Given the description of an element on the screen output the (x, y) to click on. 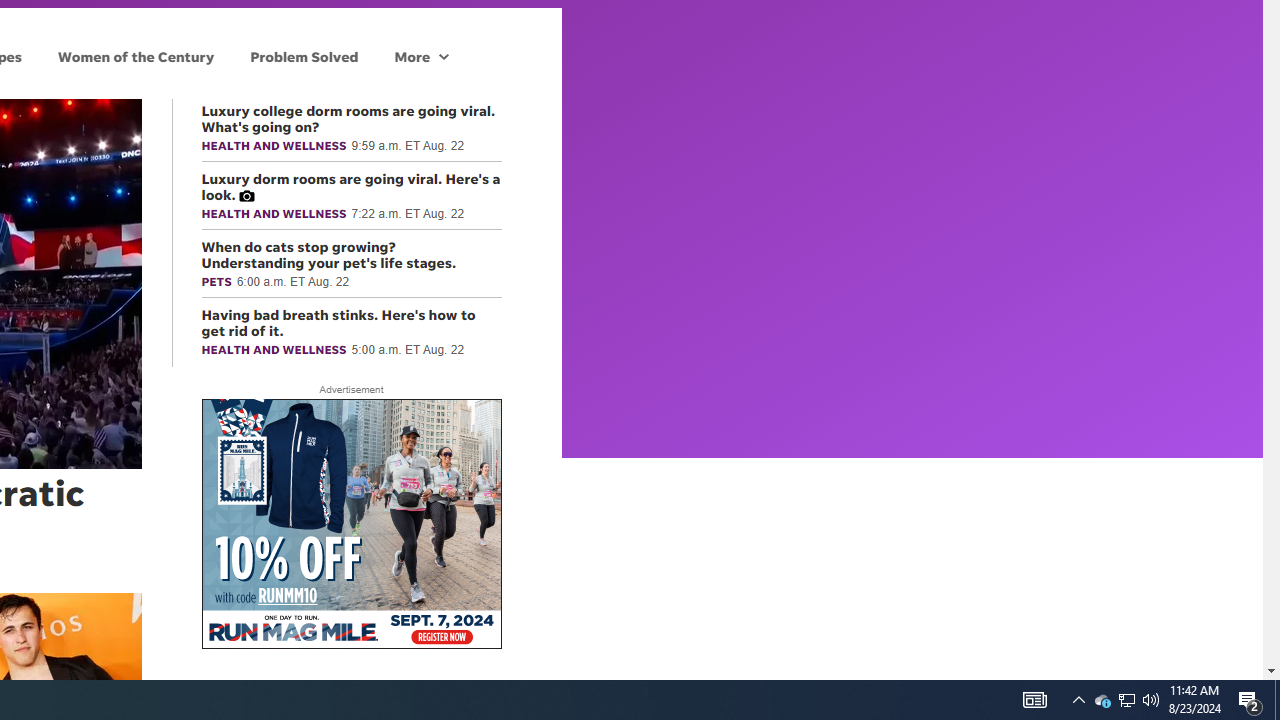
Women of the Century (136, 56)
AutomationID: aw0 (350, 525)
